Given the description of an element on the screen output the (x, y) to click on. 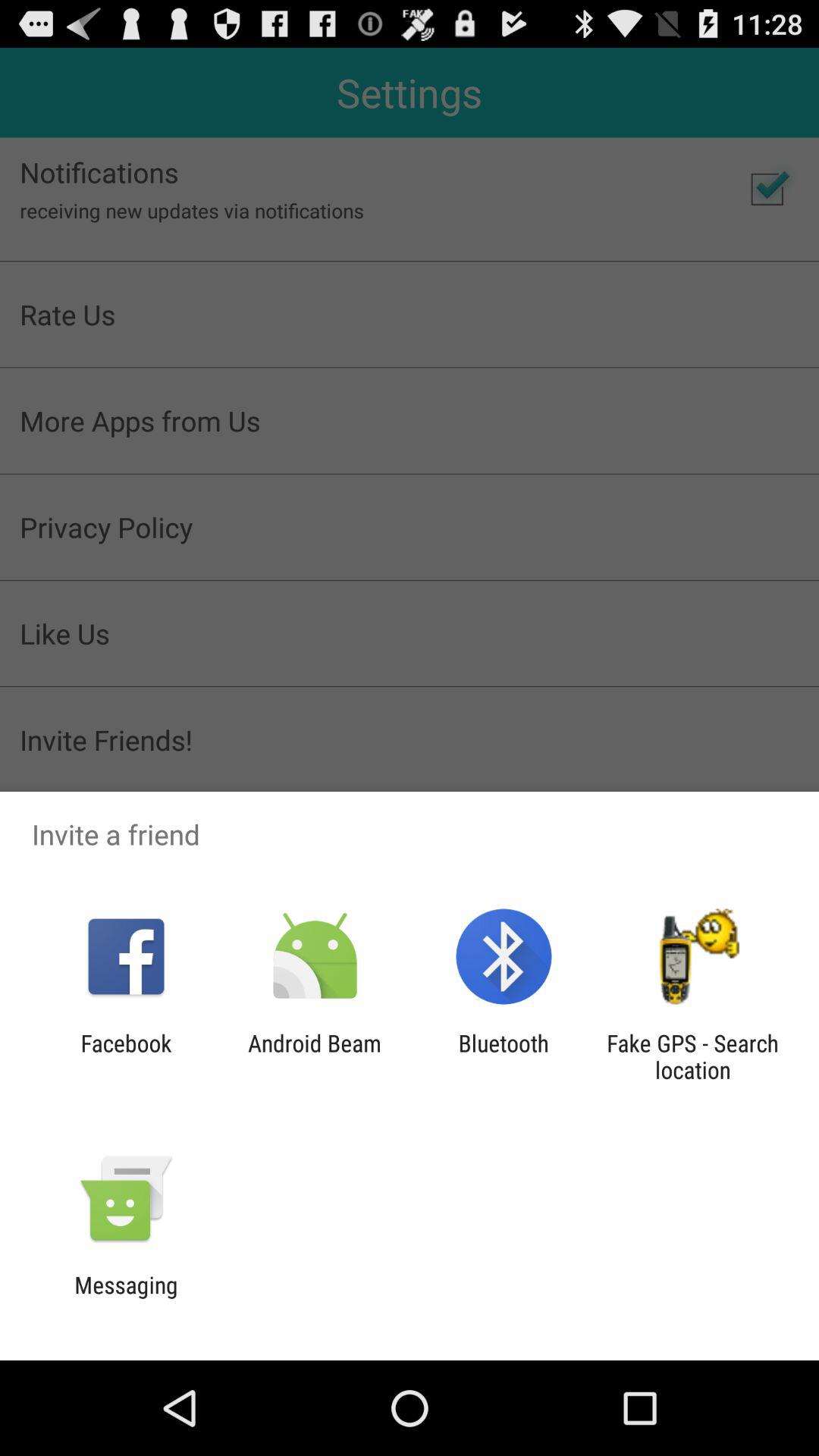
launch messaging item (126, 1298)
